Given the description of an element on the screen output the (x, y) to click on. 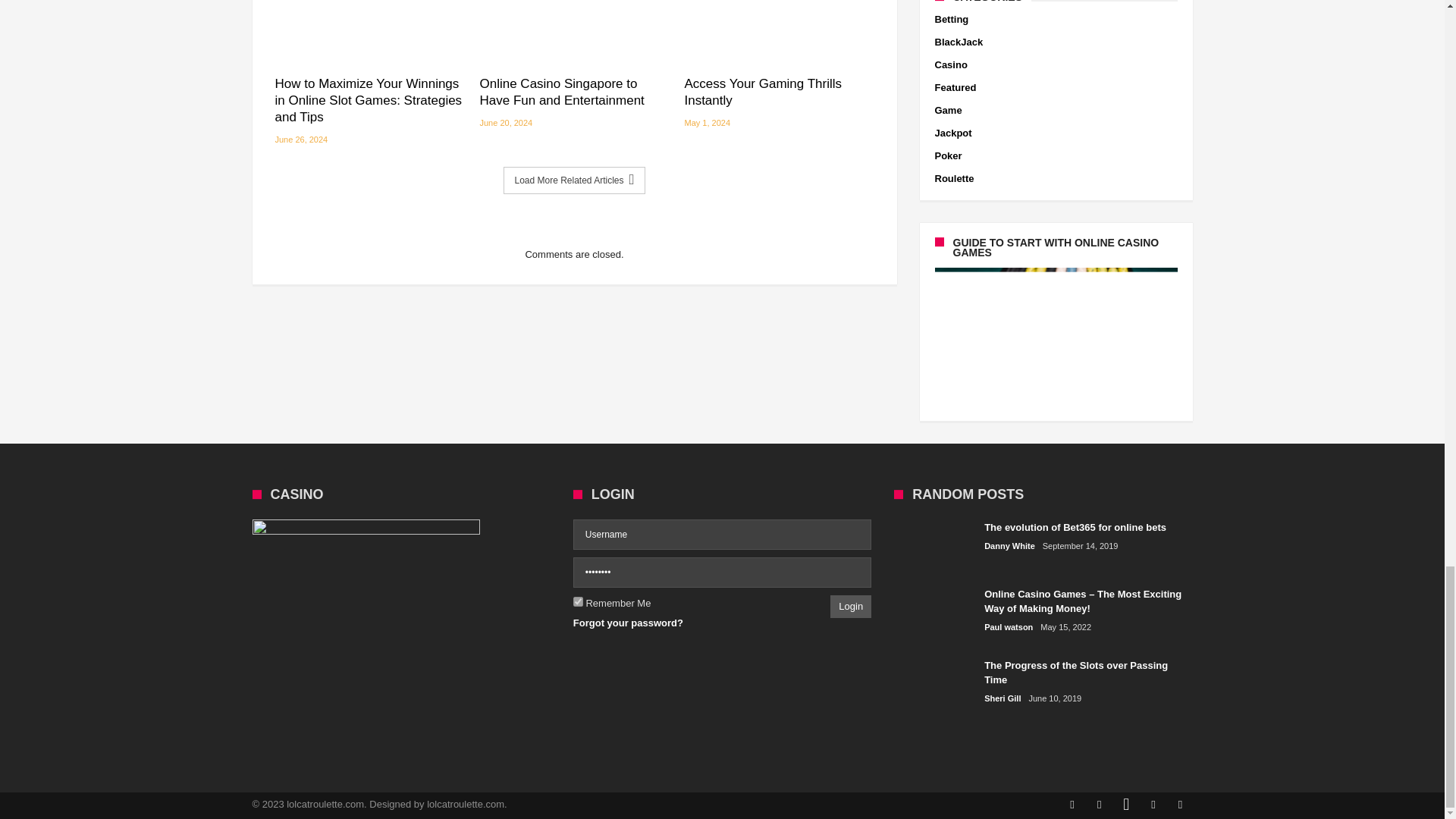
forever (578, 601)
Password (721, 572)
Username (721, 534)
